Given the description of an element on the screen output the (x, y) to click on. 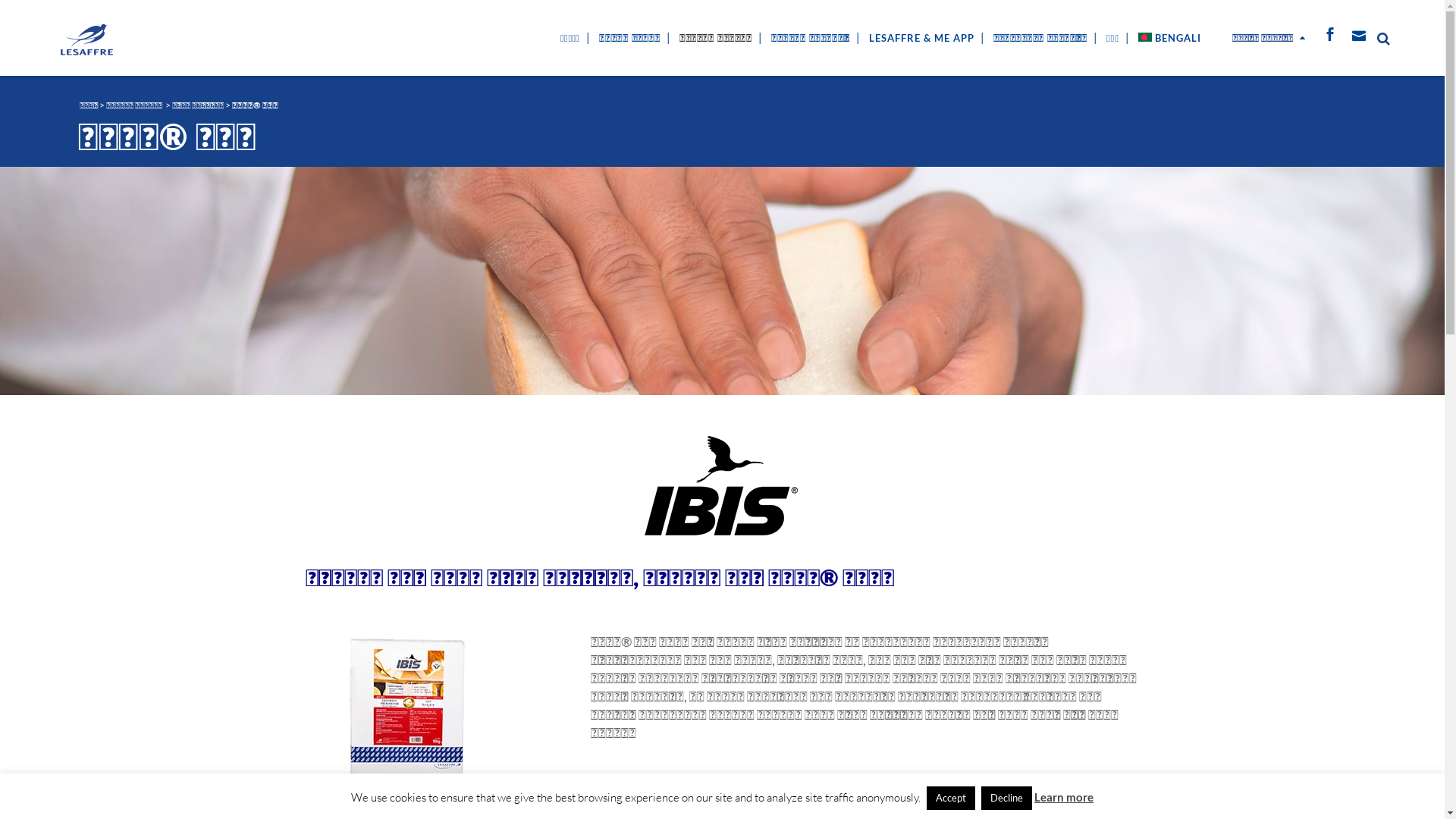
Ibis-1 Element type: hover (721, 485)
Accept Element type: text (950, 797)
Ibis-Red Element type: hover (407, 709)
Decline Element type: text (1006, 797)
LESAFFRE & ME APP Element type: text (921, 37)
BENGALI Element type: text (1170, 37)
Learn more Element type: text (1063, 796)
